Given the description of an element on the screen output the (x, y) to click on. 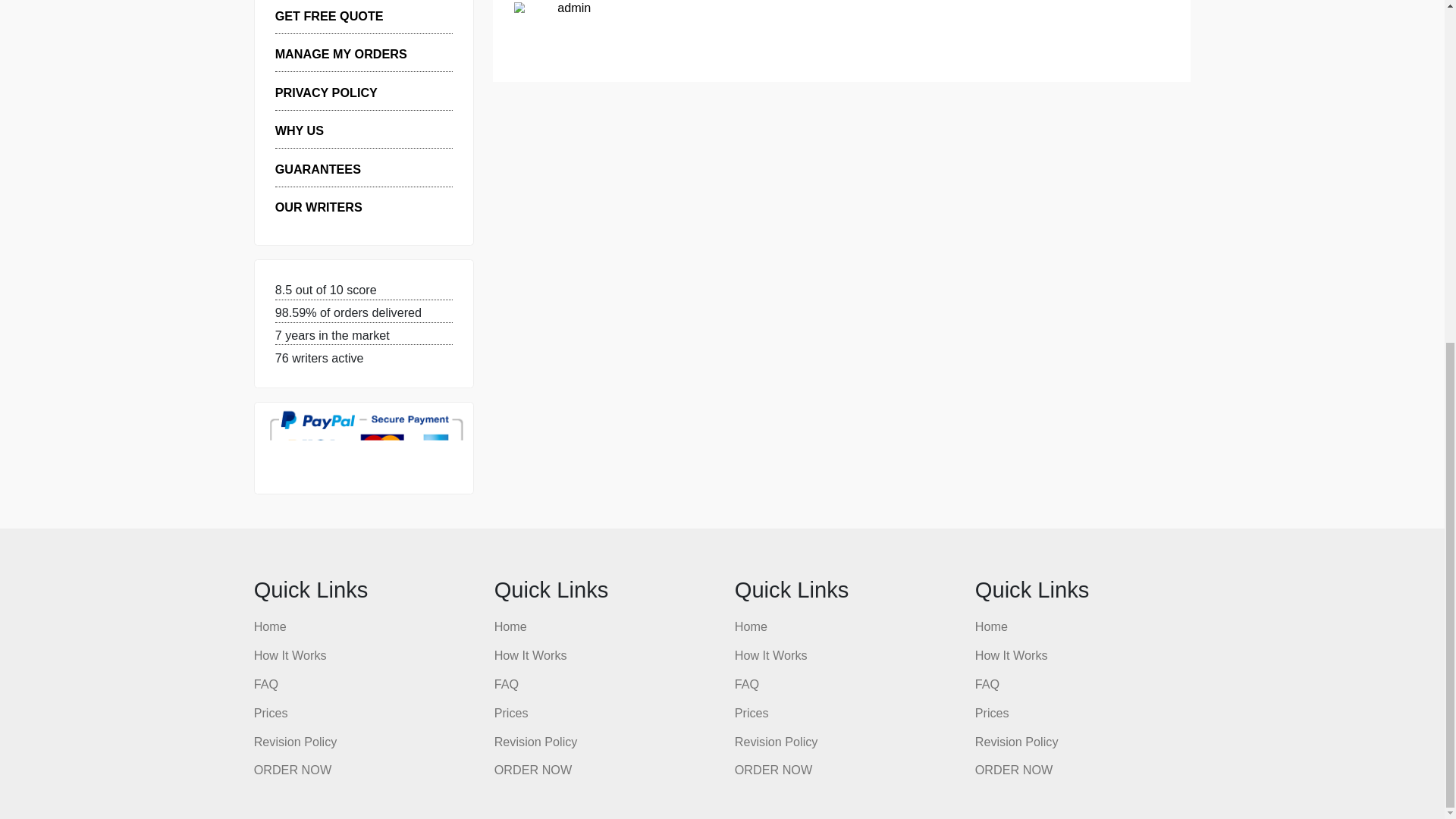
WHY US (332, 210)
admin (638, 73)
PRIVACY POLICY (362, 168)
Home (300, 761)
GUARANTEES (353, 252)
How It Works (322, 792)
GET FREE QUOTE (365, 83)
OUR WRITERS (354, 295)
MANAGE MY ORDERS (378, 125)
FAQ (295, 816)
